Given the description of an element on the screen output the (x, y) to click on. 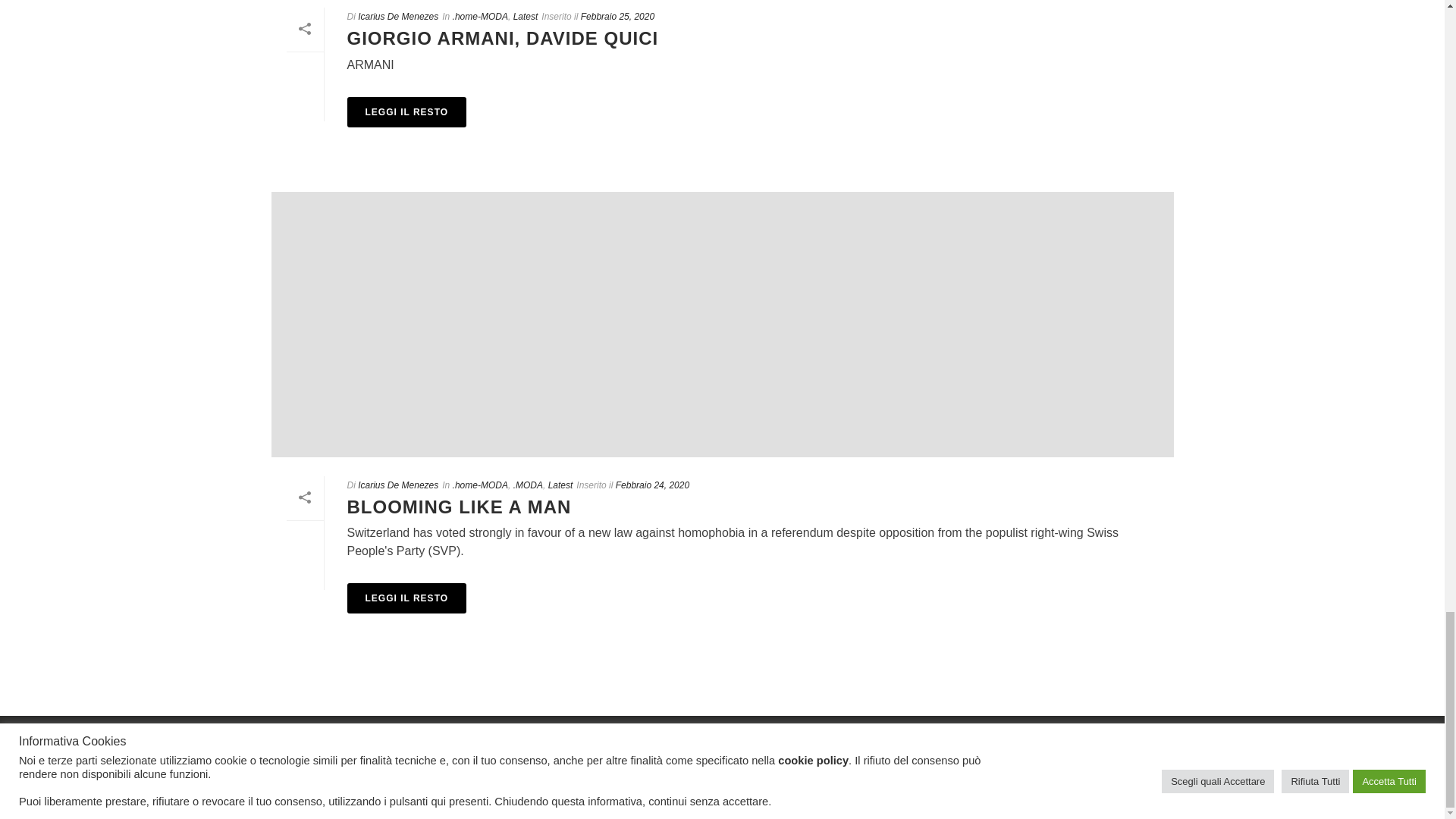
LEGGI IL RESTO (407, 112)
LEGGI IL RESTO (407, 598)
